Given the description of an element on the screen output the (x, y) to click on. 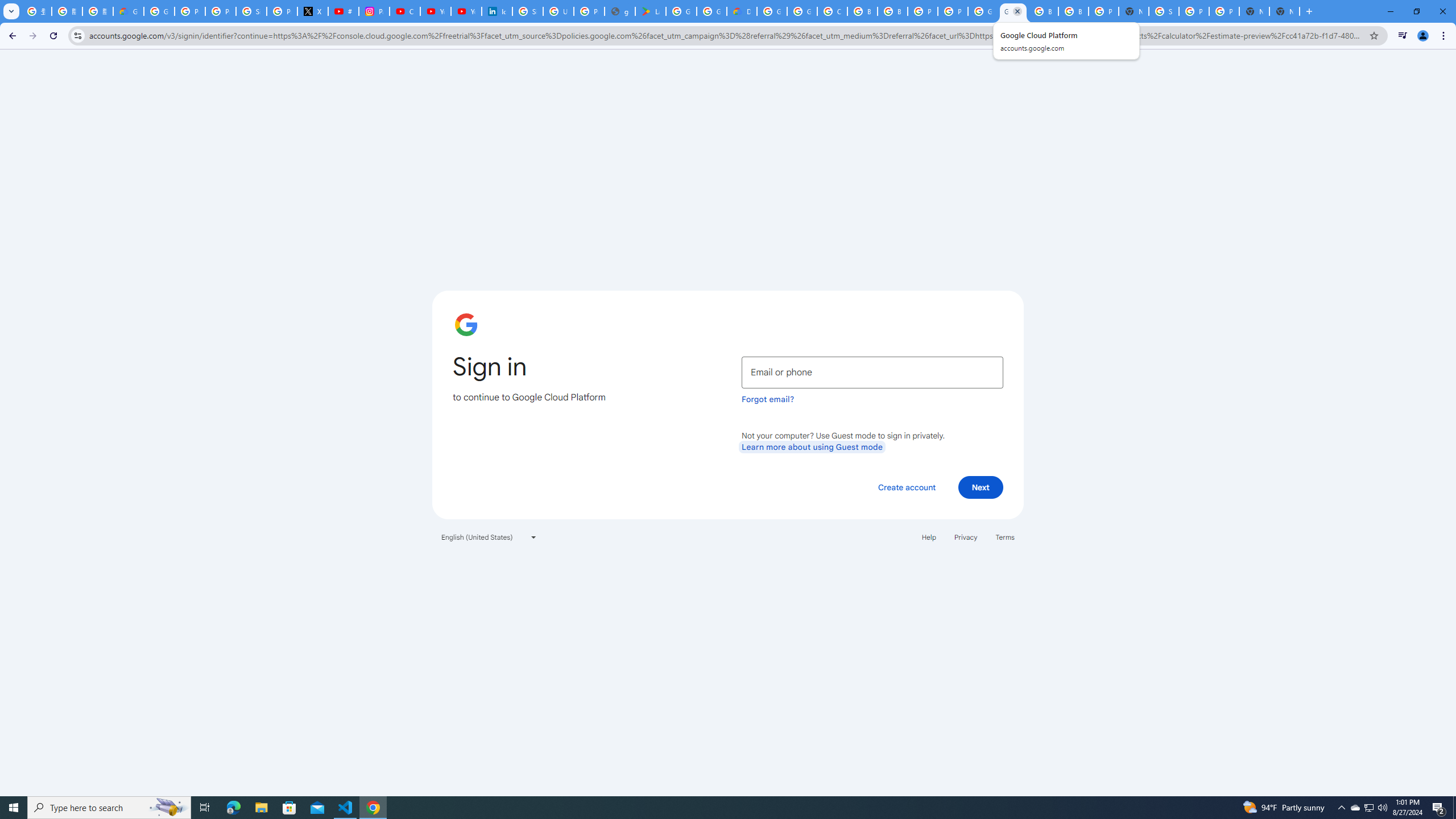
New Tab (1133, 11)
Google Cloud Privacy Notice (127, 11)
google_privacy_policy_en.pdf (619, 11)
Sign in - Google Accounts (1163, 11)
Browse Chrome as a guest - Computer - Google Chrome Help (1042, 11)
YouTube Culture & Trends - YouTube Top 10, 2021 (465, 11)
Privacy Help Center - Policies Help (220, 11)
